Given the description of an element on the screen output the (x, y) to click on. 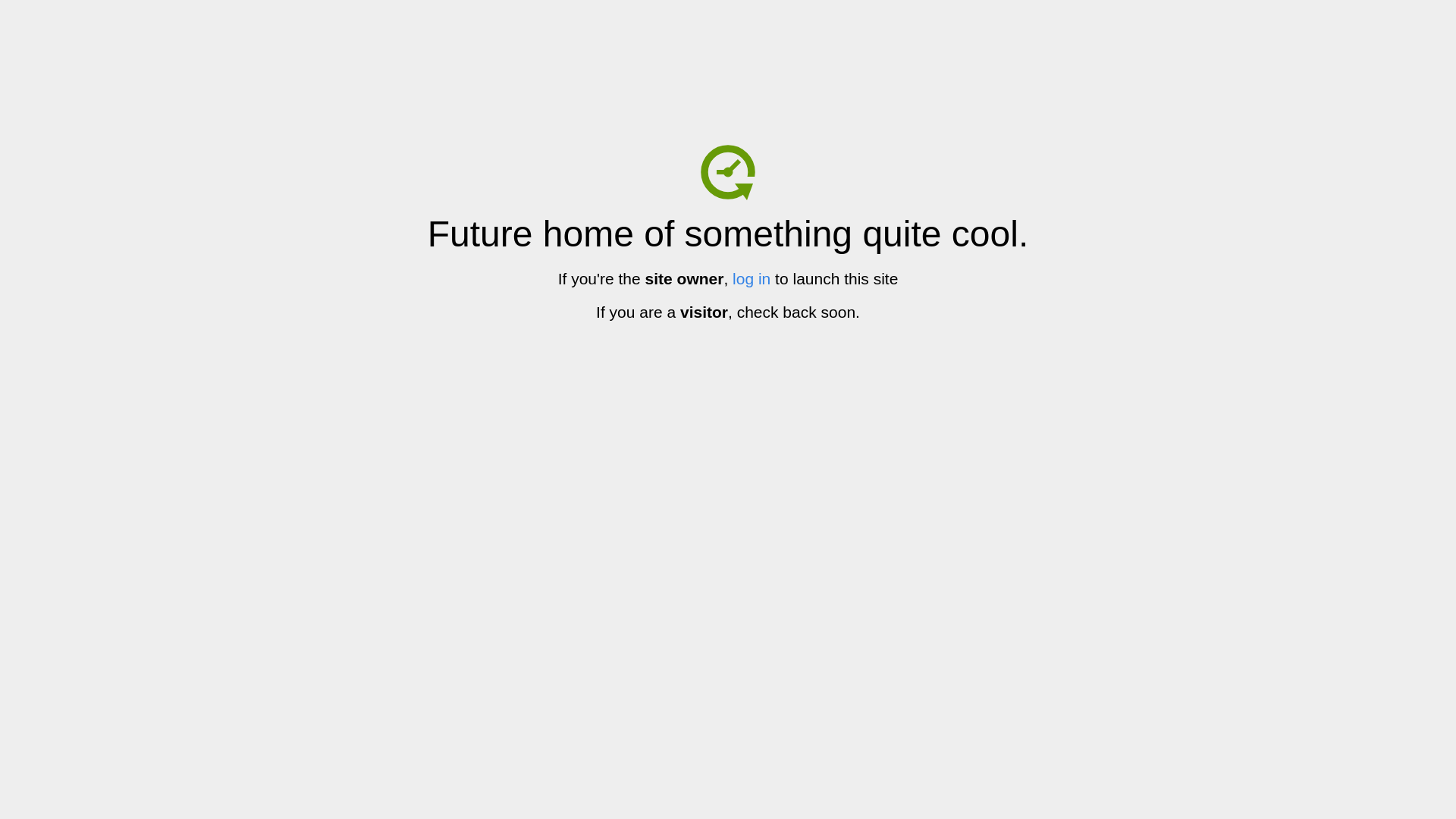
log in Element type: text (751, 278)
